Given the description of an element on the screen output the (x, y) to click on. 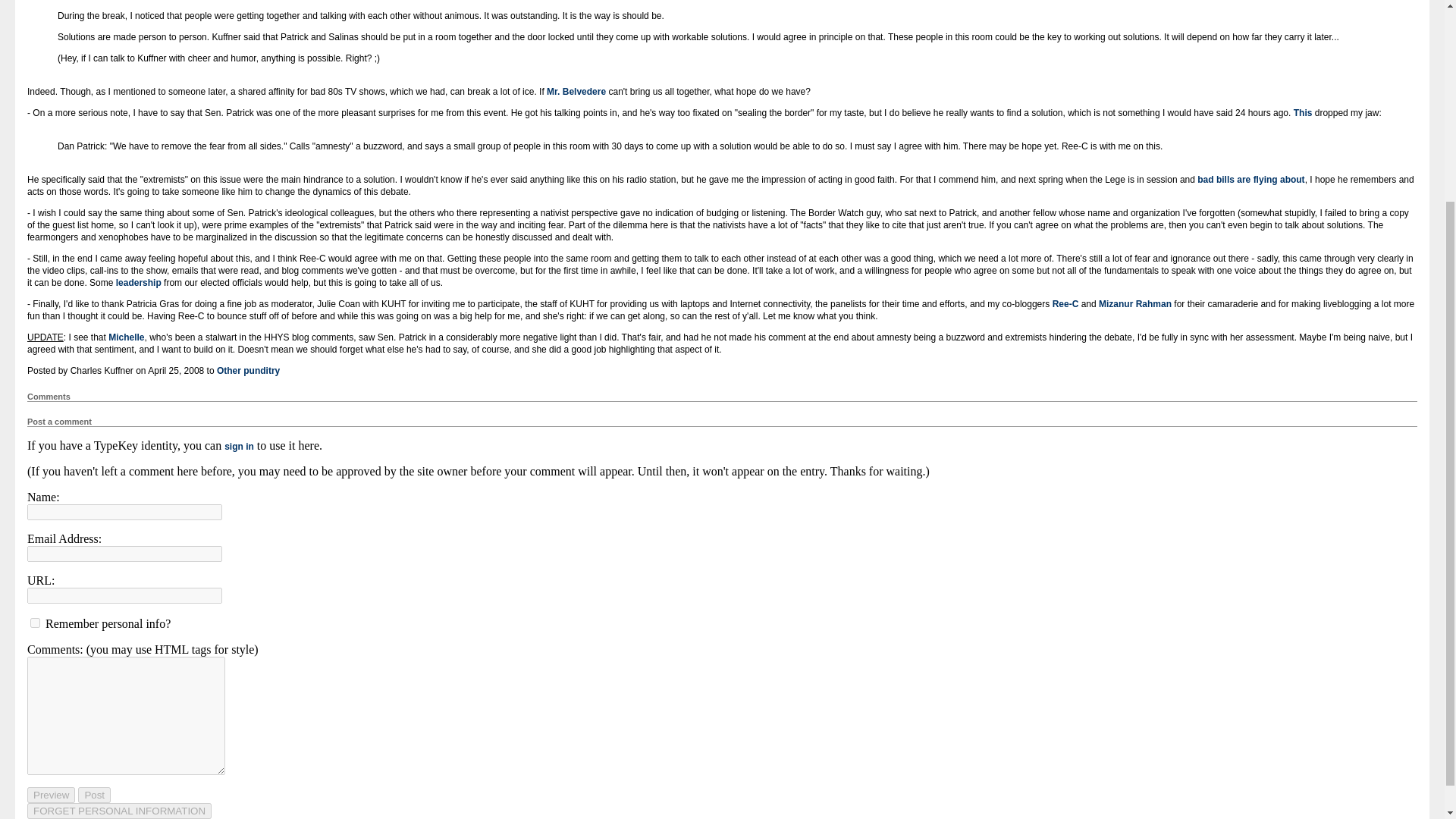
Mizanur Rahman (1135, 303)
Mr. Belvedere (576, 91)
Post (94, 795)
Ree-C (1065, 303)
Preview (51, 795)
This (1303, 112)
Post (94, 795)
leadership (138, 282)
1 (35, 623)
Other punditry (247, 370)
Preview (51, 795)
sign in (238, 446)
bad bills are flying about (1250, 179)
Michelle (125, 337)
